Given the description of an element on the screen output the (x, y) to click on. 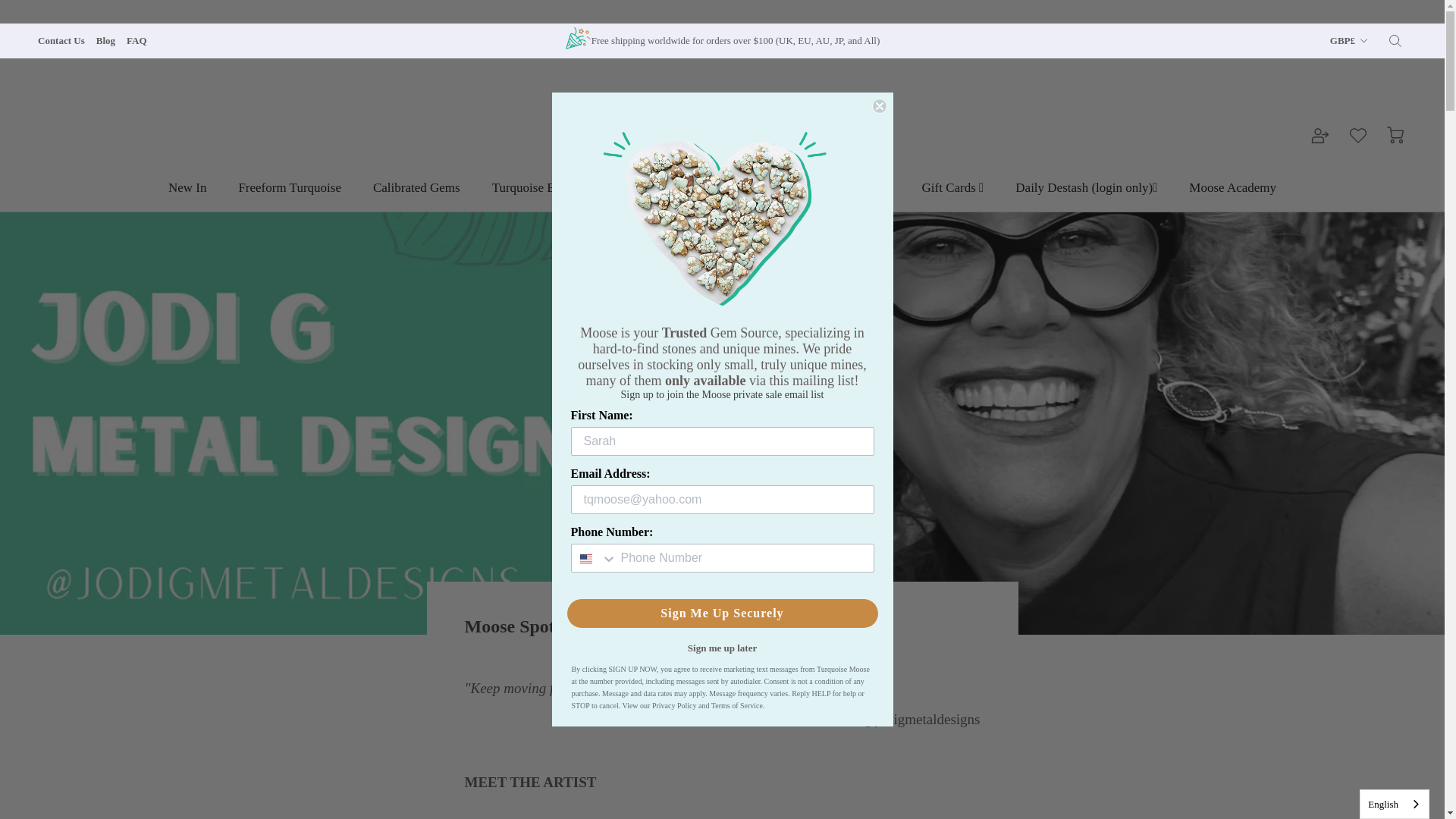
United States (585, 558)
